Given the description of an element on the screen output the (x, y) to click on. 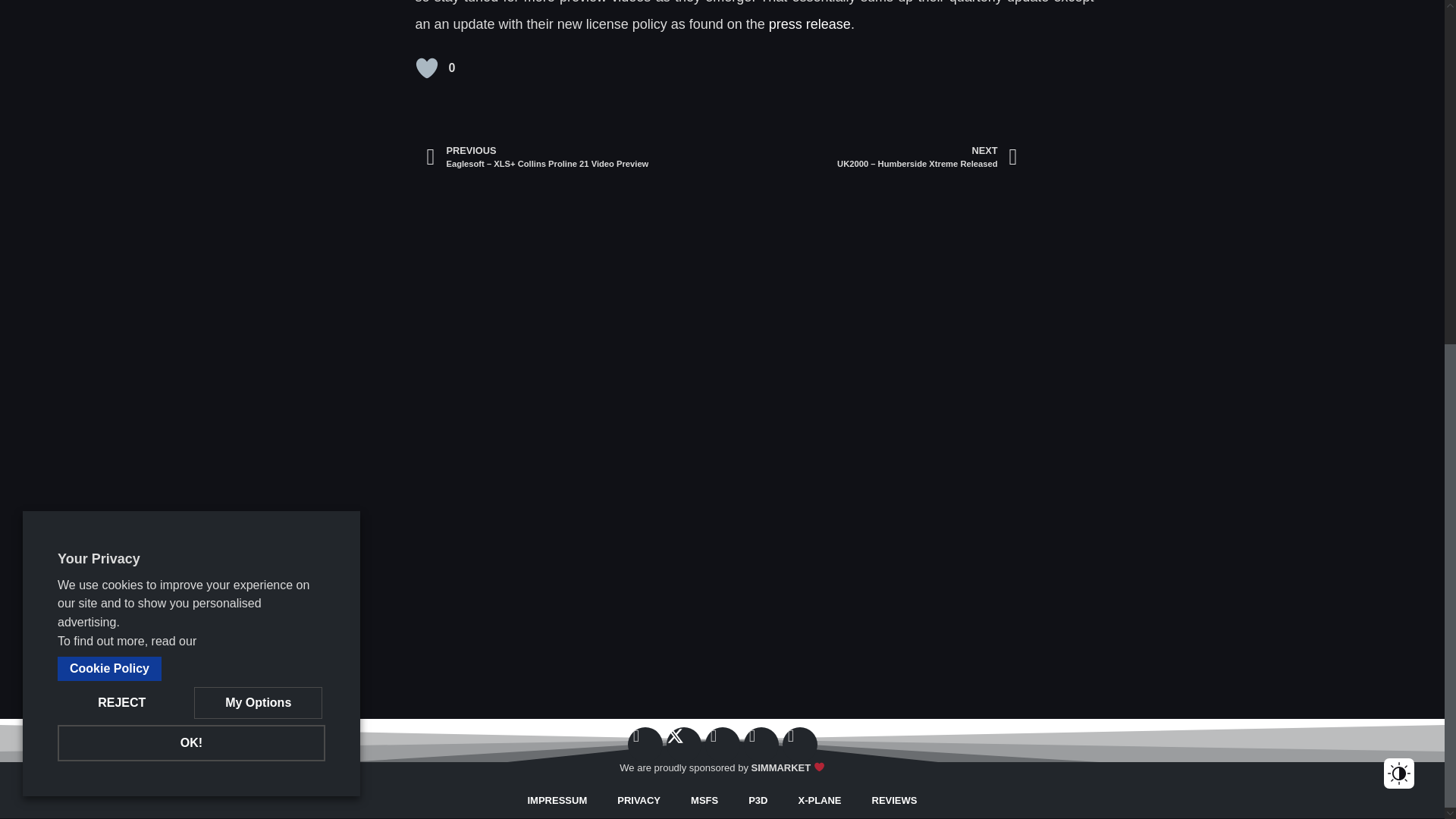
press release (807, 23)
